Given the description of an element on the screen output the (x, y) to click on. 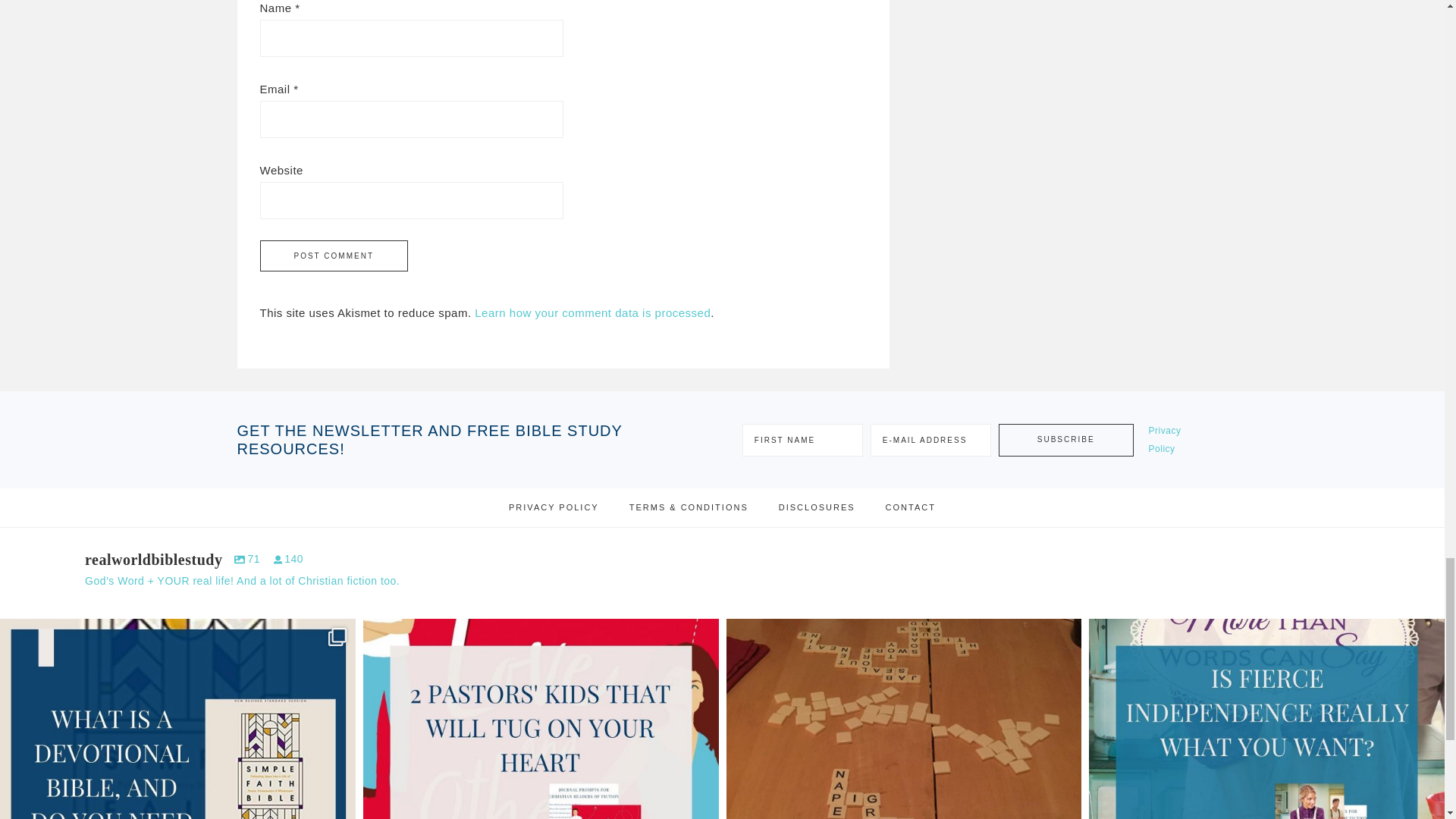
Post Comment (333, 255)
Subscribe (1066, 440)
